Given the description of an element on the screen output the (x, y) to click on. 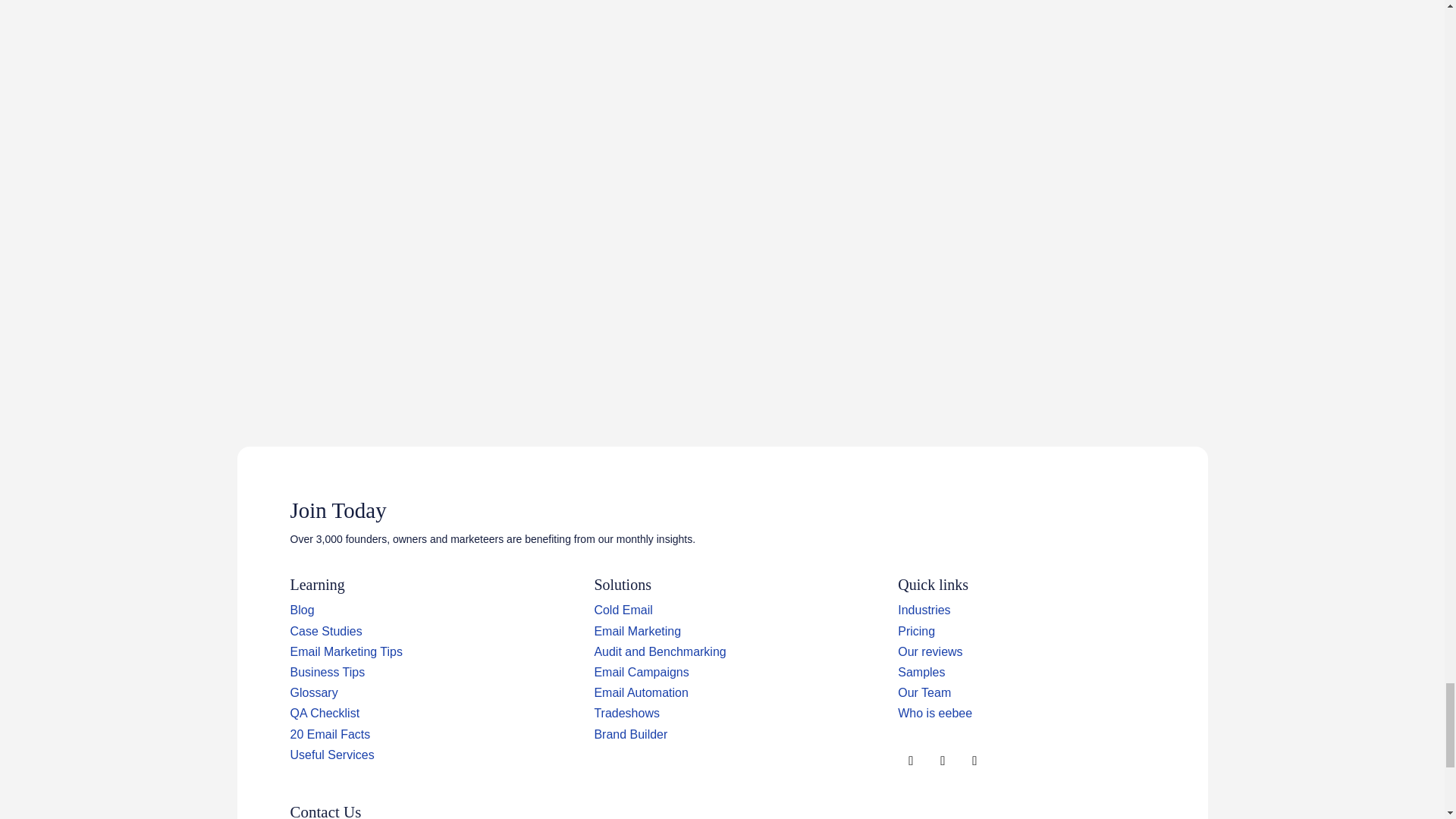
Follow on LinkedIn (942, 760)
Follow on Youtube (973, 760)
Follow on Facebook (910, 760)
